Given the description of an element on the screen output the (x, y) to click on. 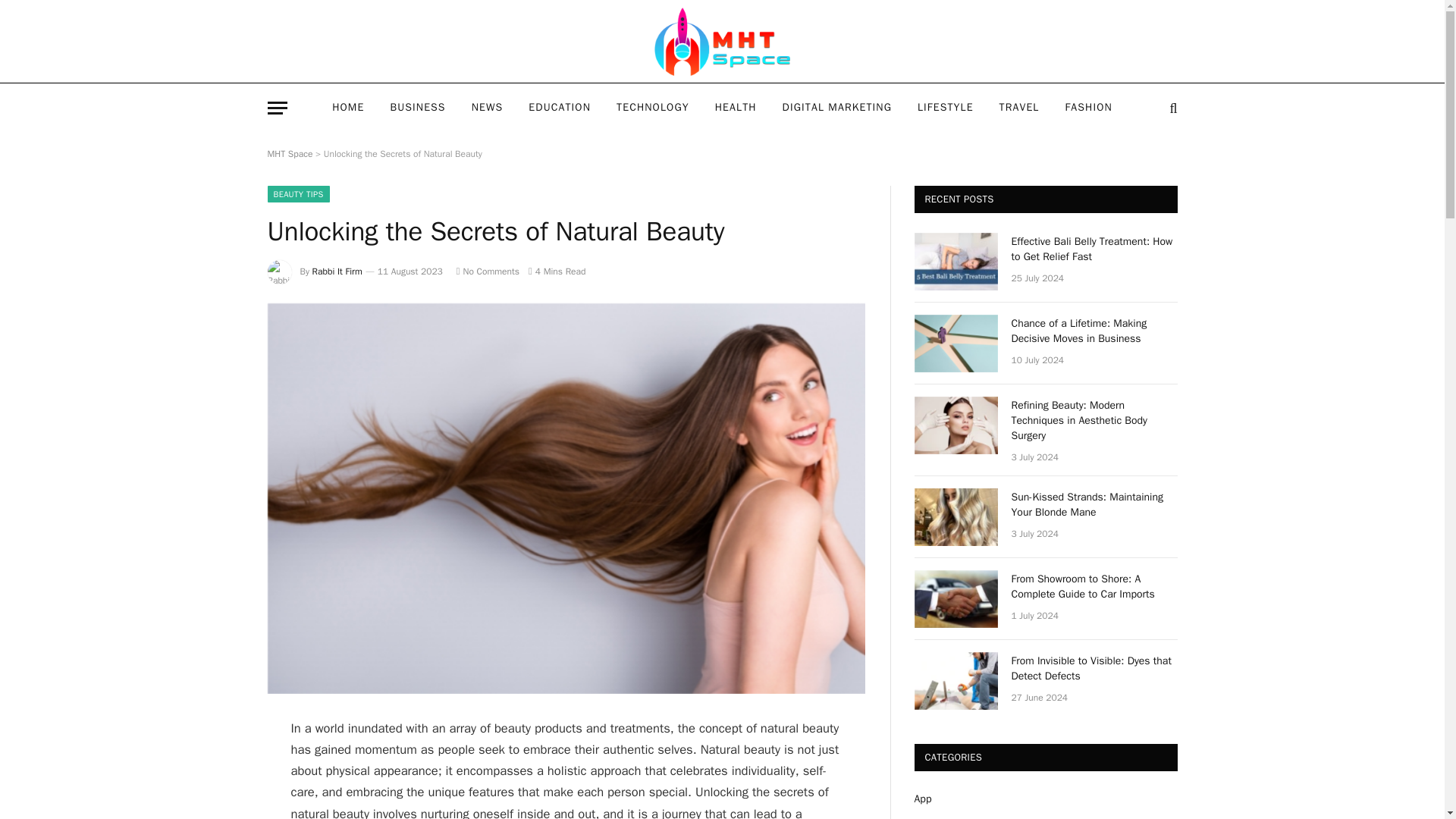
Effective Bali Belly Treatment: How to Get Relief Fast (1094, 249)
No Comments (488, 271)
Chance of a Lifetime: Making Decisive Moves in Business (955, 343)
HOME (347, 107)
Posts by Rabbi It Firm (337, 271)
Sun-Kissed Strands: Maintaining Your Blonde Mane (955, 517)
LIFESTYLE (945, 107)
TECHNOLOGY (652, 107)
NEWS (487, 107)
FASHION (1087, 107)
HEALTH (735, 107)
TRAVEL (1019, 107)
MHT Space (722, 41)
MHT Space (289, 153)
